Given the description of an element on the screen output the (x, y) to click on. 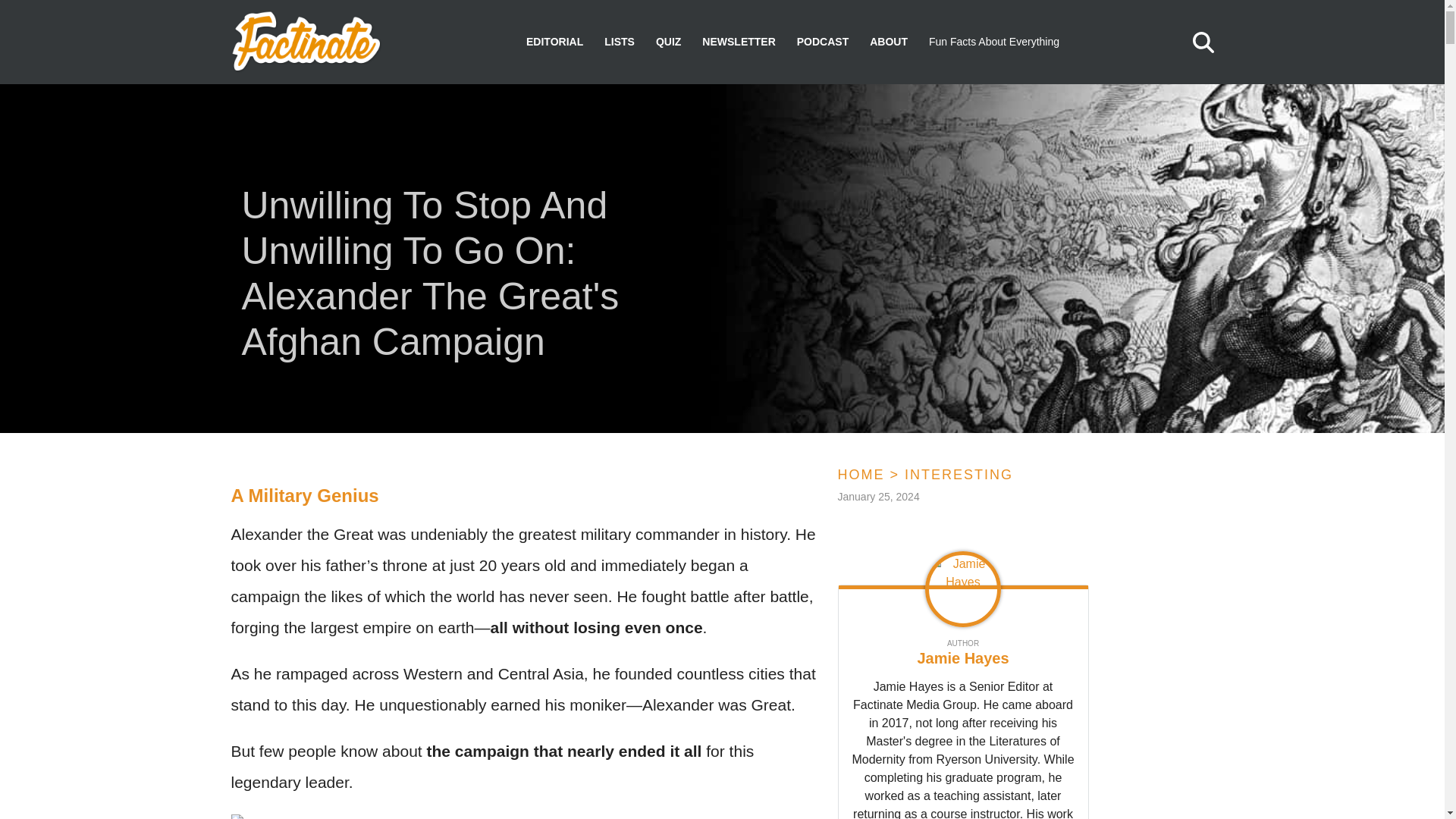
QUIZ (668, 41)
EDITORIAL (554, 41)
ABOUT (888, 41)
PODCAST (822, 41)
NEWSLETTER (737, 41)
LISTS (619, 41)
